Given the description of an element on the screen output the (x, y) to click on. 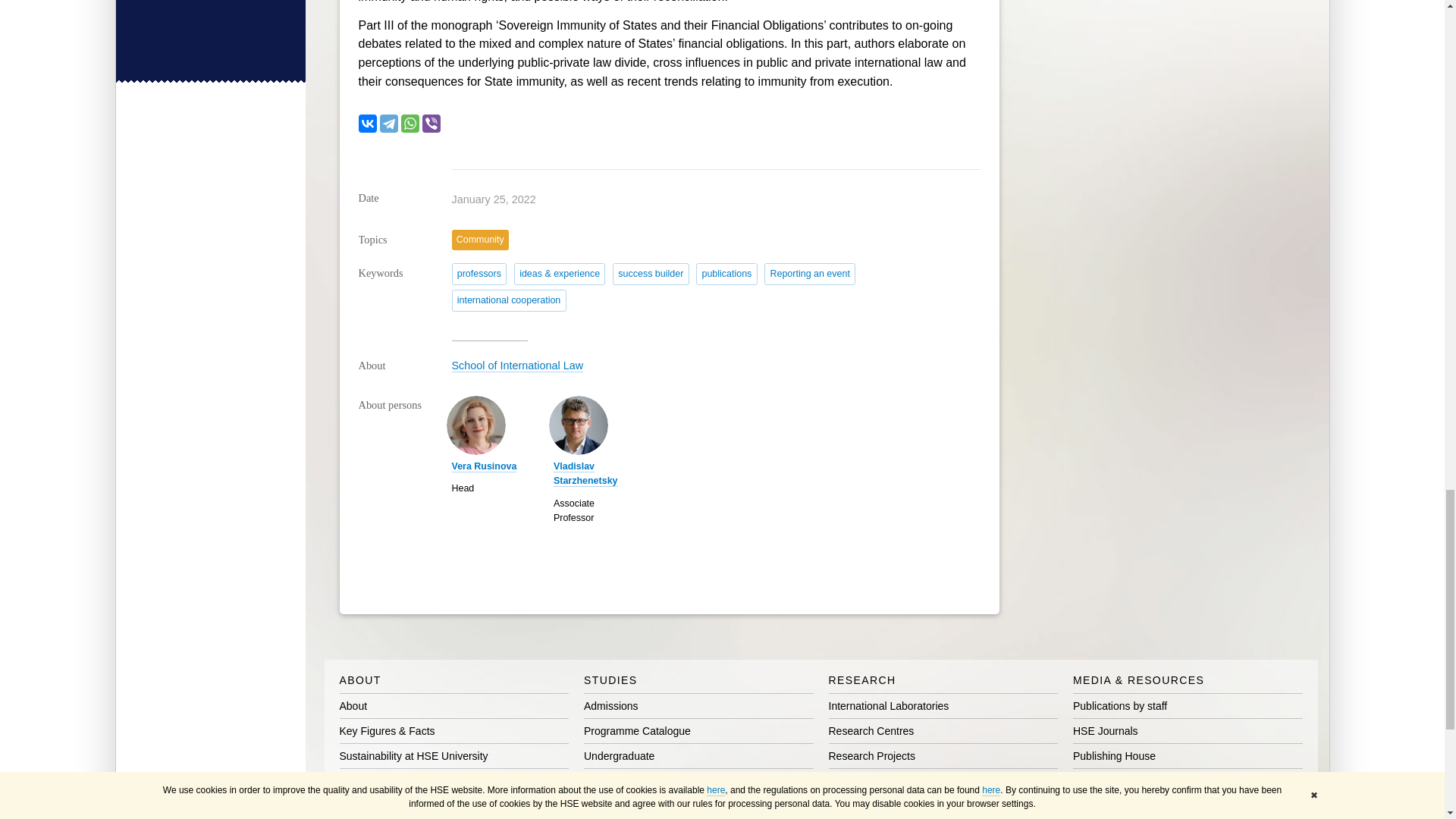
international cooperation (508, 300)
professors (478, 273)
Telegram (387, 123)
VKontakte (366, 123)
Viber (430, 123)
Reporting an event (810, 273)
WhatsApp (409, 123)
publications (726, 273)
success builder (650, 273)
